Given the description of an element on the screen output the (x, y) to click on. 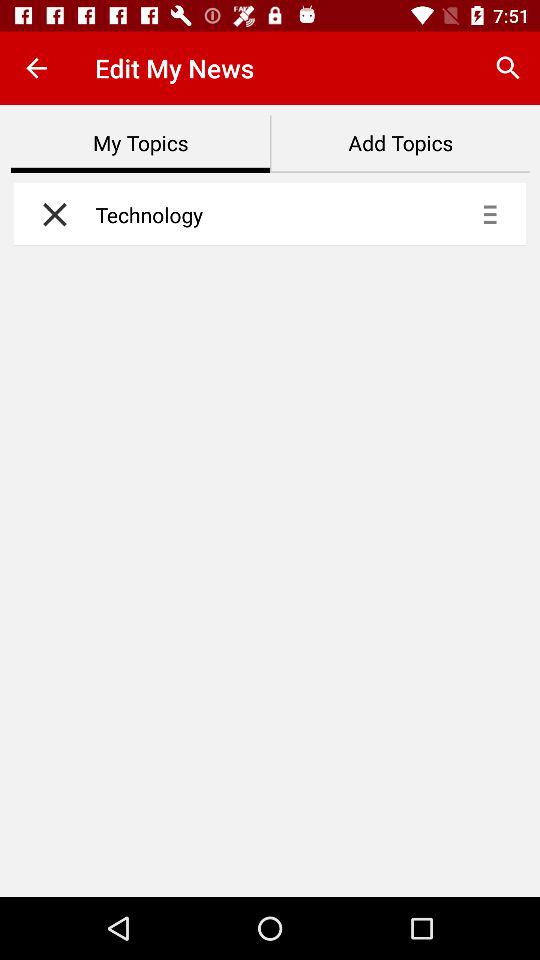
jump to the add topics (400, 143)
